Given the description of an element on the screen output the (x, y) to click on. 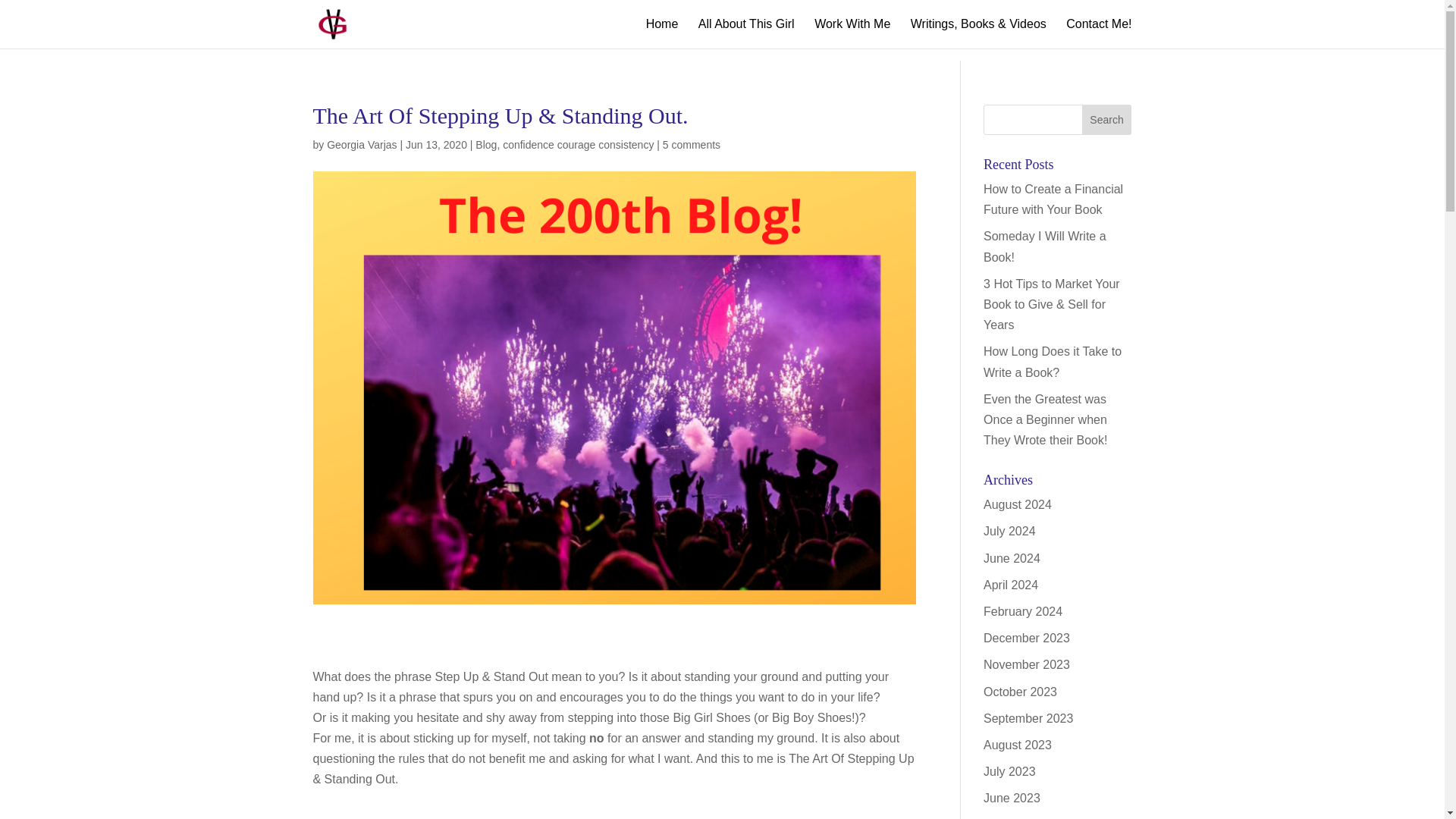
How to Create a Financial Future with Your Book (1053, 199)
September 2023 (1028, 717)
November 2023 (1027, 664)
How Long Does it Take to Write a Book? (1052, 361)
5 comments (691, 144)
Blog (486, 144)
July 2024 (1009, 530)
Search (1106, 119)
Home (662, 33)
June 2024 (1012, 558)
